Given the description of an element on the screen output the (x, y) to click on. 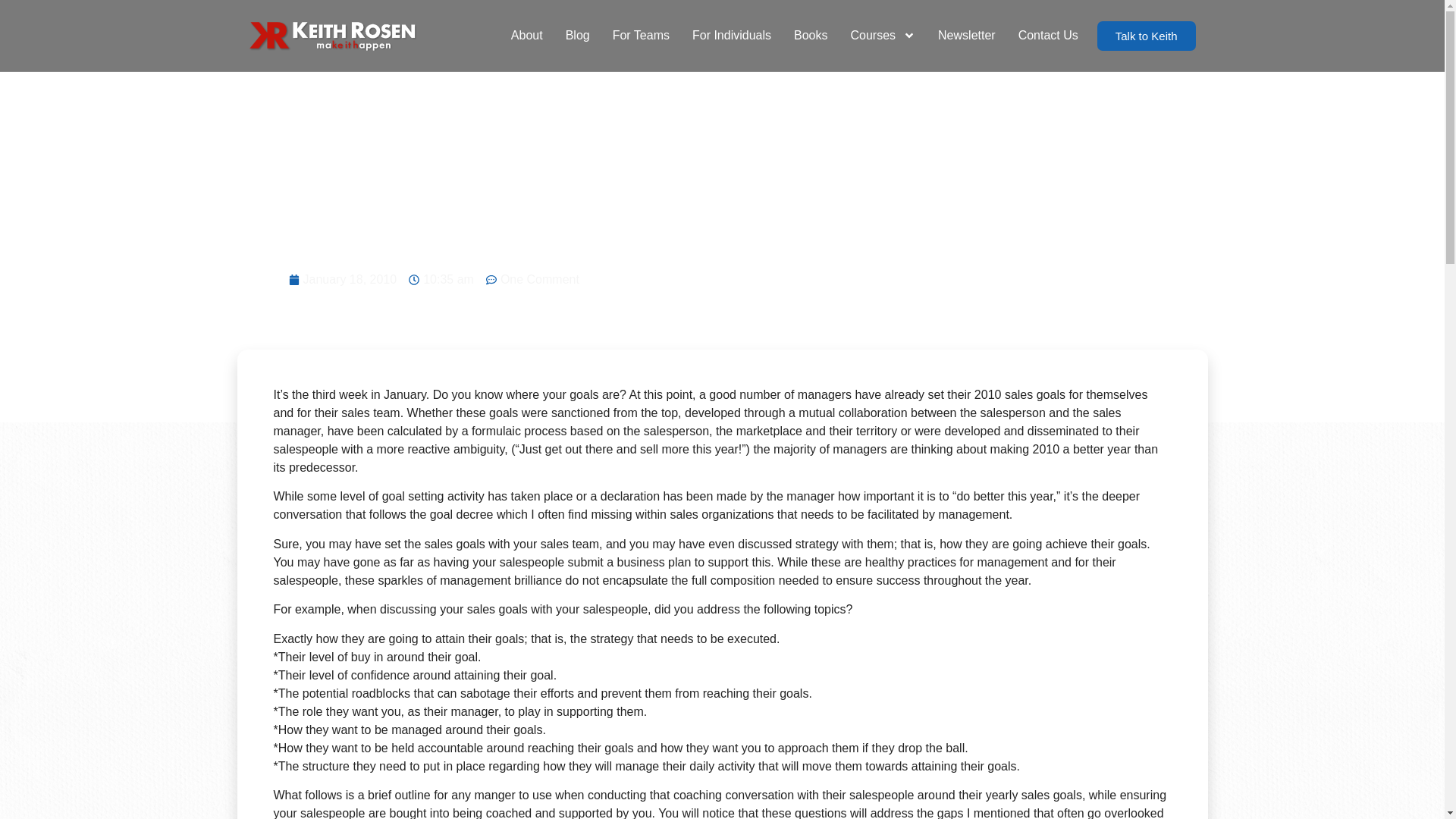
Courses (882, 35)
Books (810, 35)
Talk to Keith (1146, 35)
For Individuals (732, 35)
Contact Us (1048, 35)
About (526, 35)
Newsletter (966, 35)
Blog (577, 35)
For Teams (641, 35)
